Given the description of an element on the screen output the (x, y) to click on. 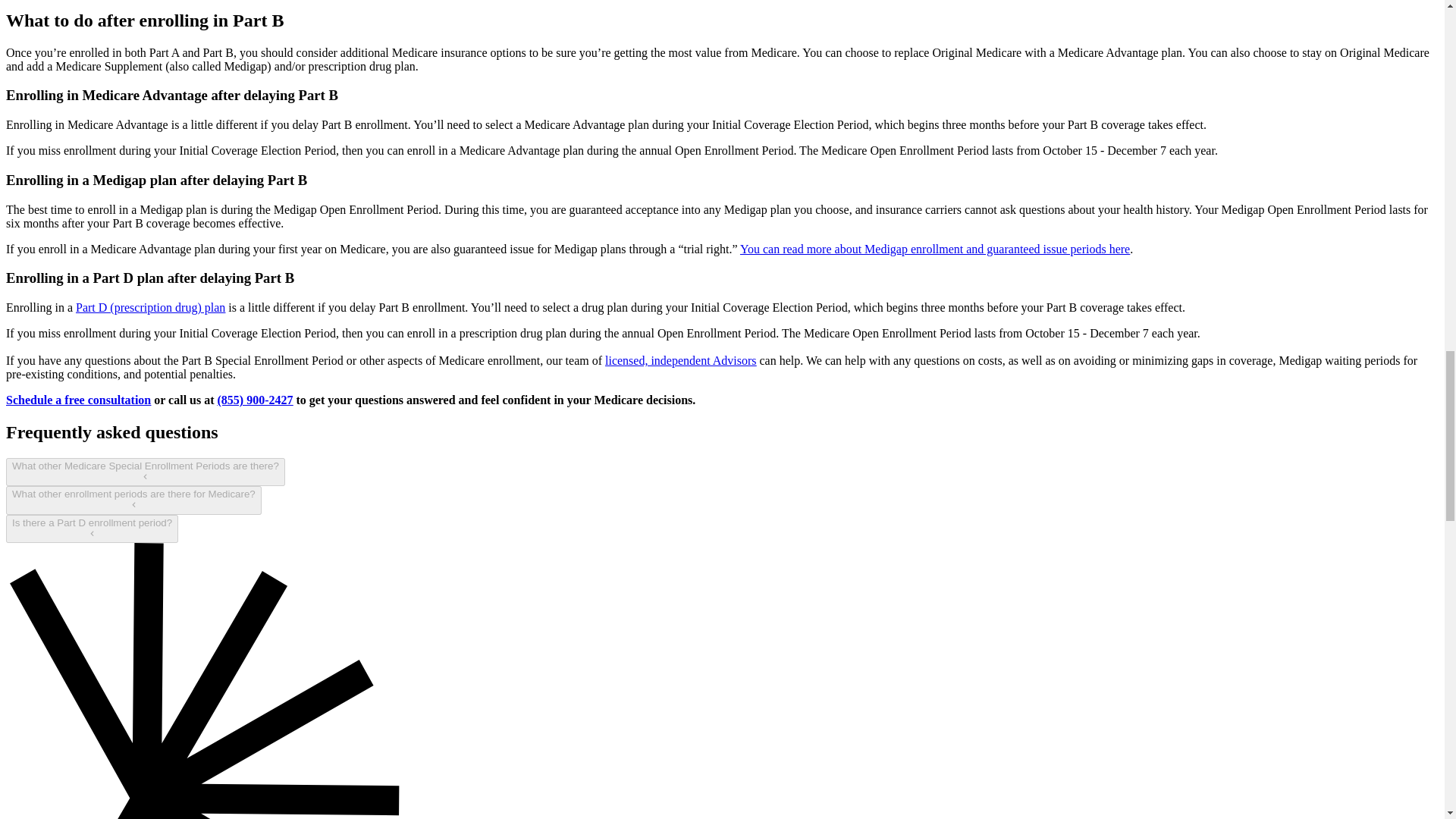
Schedule a free consultation (78, 399)
Is there a Part D enrollment period? (91, 528)
licensed, independent Advisors (681, 359)
What other Medicare Special Enrollment Periods are there? (145, 471)
What other enrollment periods are there for Medicare? (133, 500)
